Given the description of an element on the screen output the (x, y) to click on. 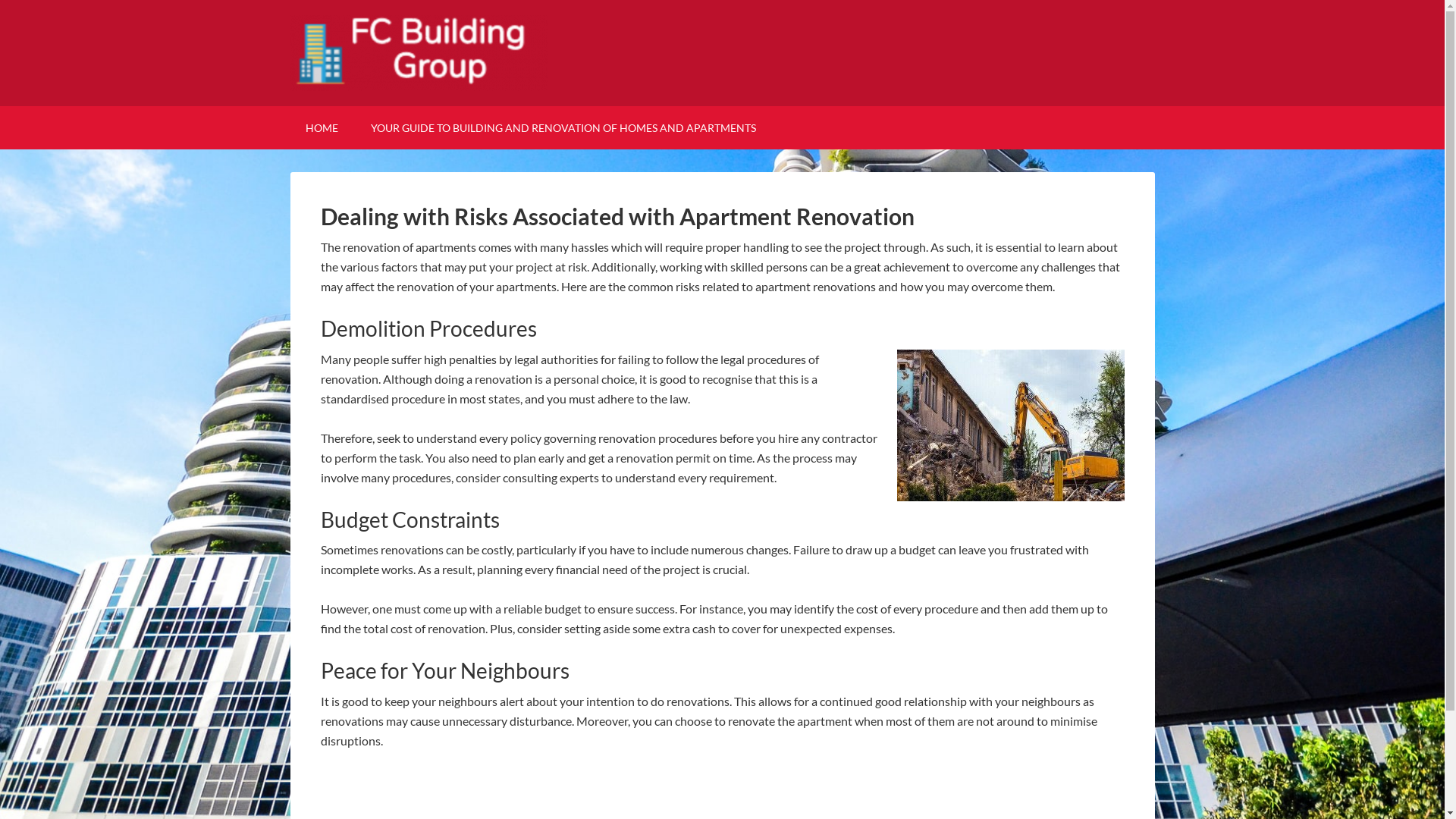
FCBUILDINGGROUP.COM.AU Element type: text (721, 53)
HOME Element type: text (320, 127)
